Given the description of an element on the screen output the (x, y) to click on. 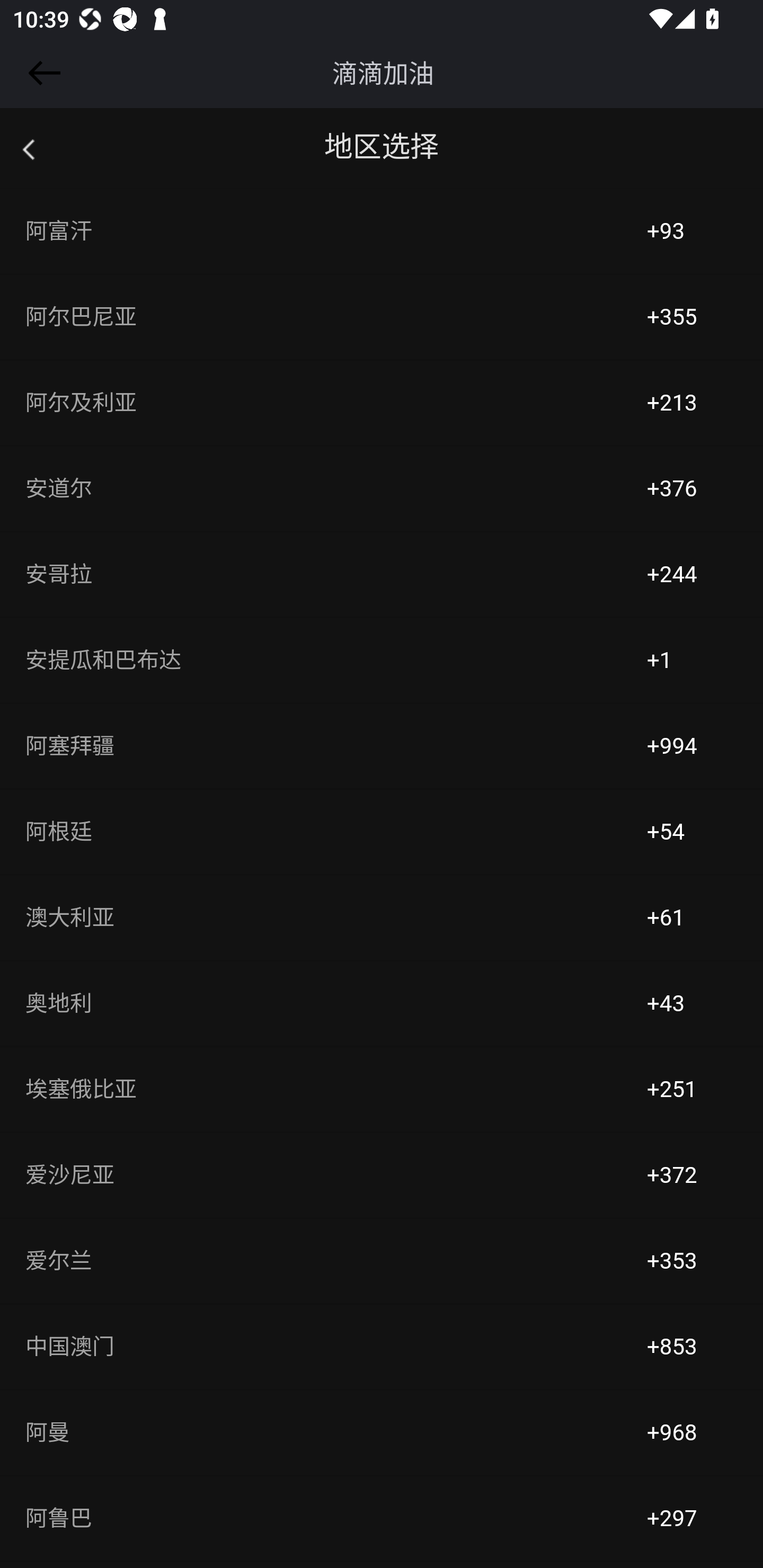
 (41, 72)
